Given the description of an element on the screen output the (x, y) to click on. 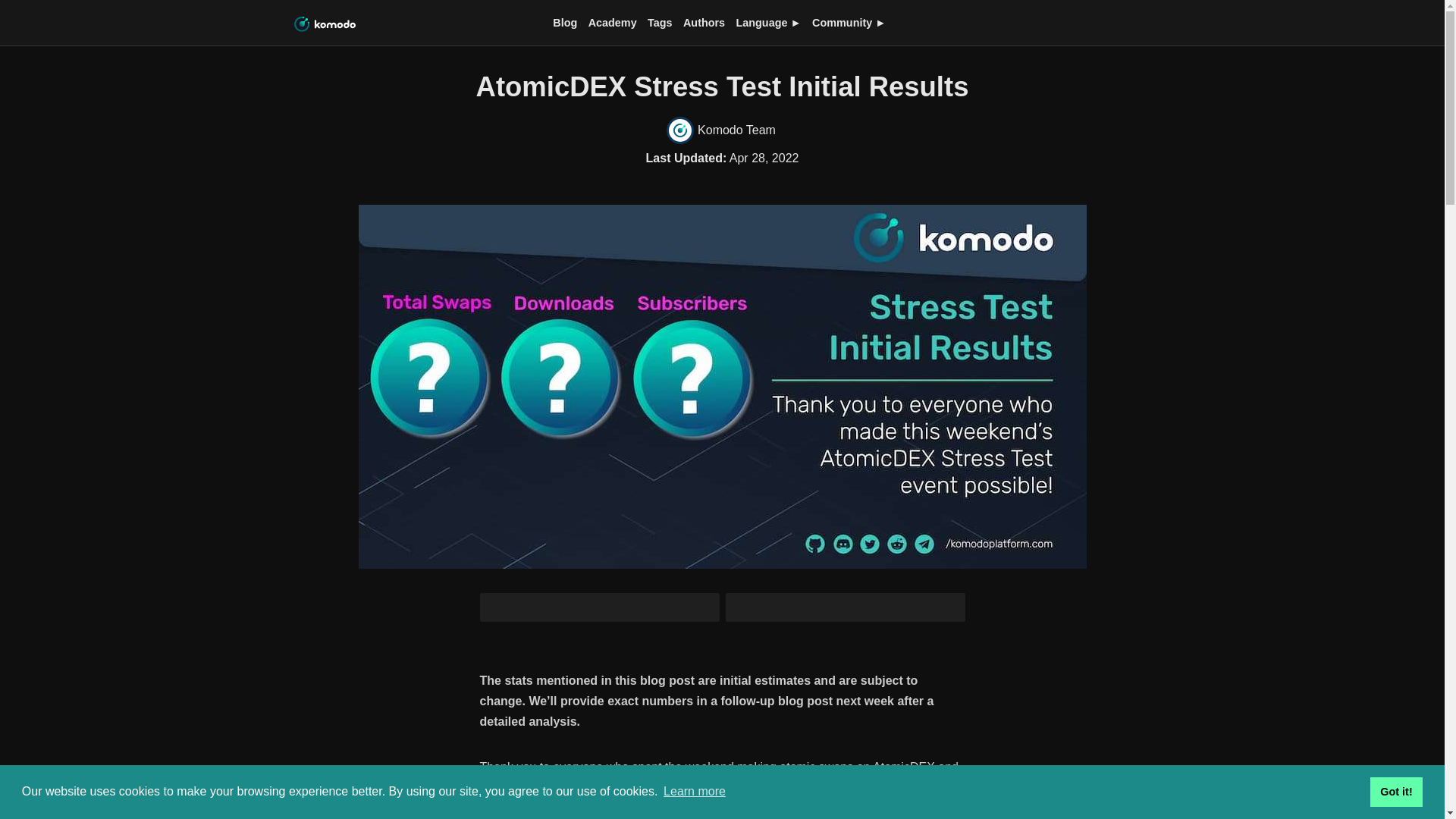
Learn more (694, 791)
 Search (1183, 22)
Got it! (1396, 791)
Authors (702, 22)
Academy (612, 22)
Tags (660, 22)
Blog (564, 22)
 Share on Twitter (844, 606)
